Given the description of an element on the screen output the (x, y) to click on. 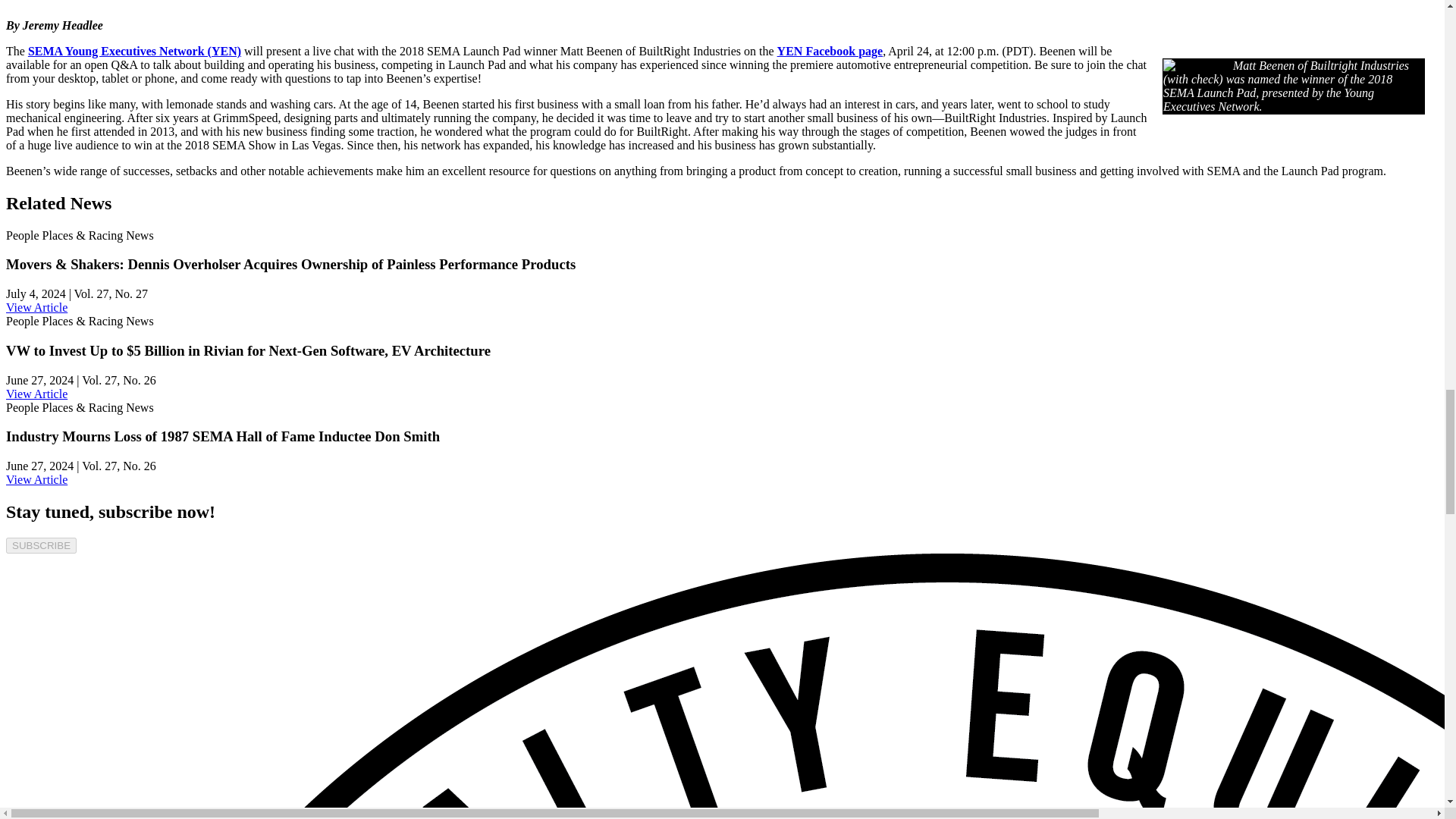
SUBSCRIBE (41, 545)
View Article (35, 307)
YEN Facebook page (830, 51)
View Article (35, 393)
View Article (35, 479)
